Given the description of an element on the screen output the (x, y) to click on. 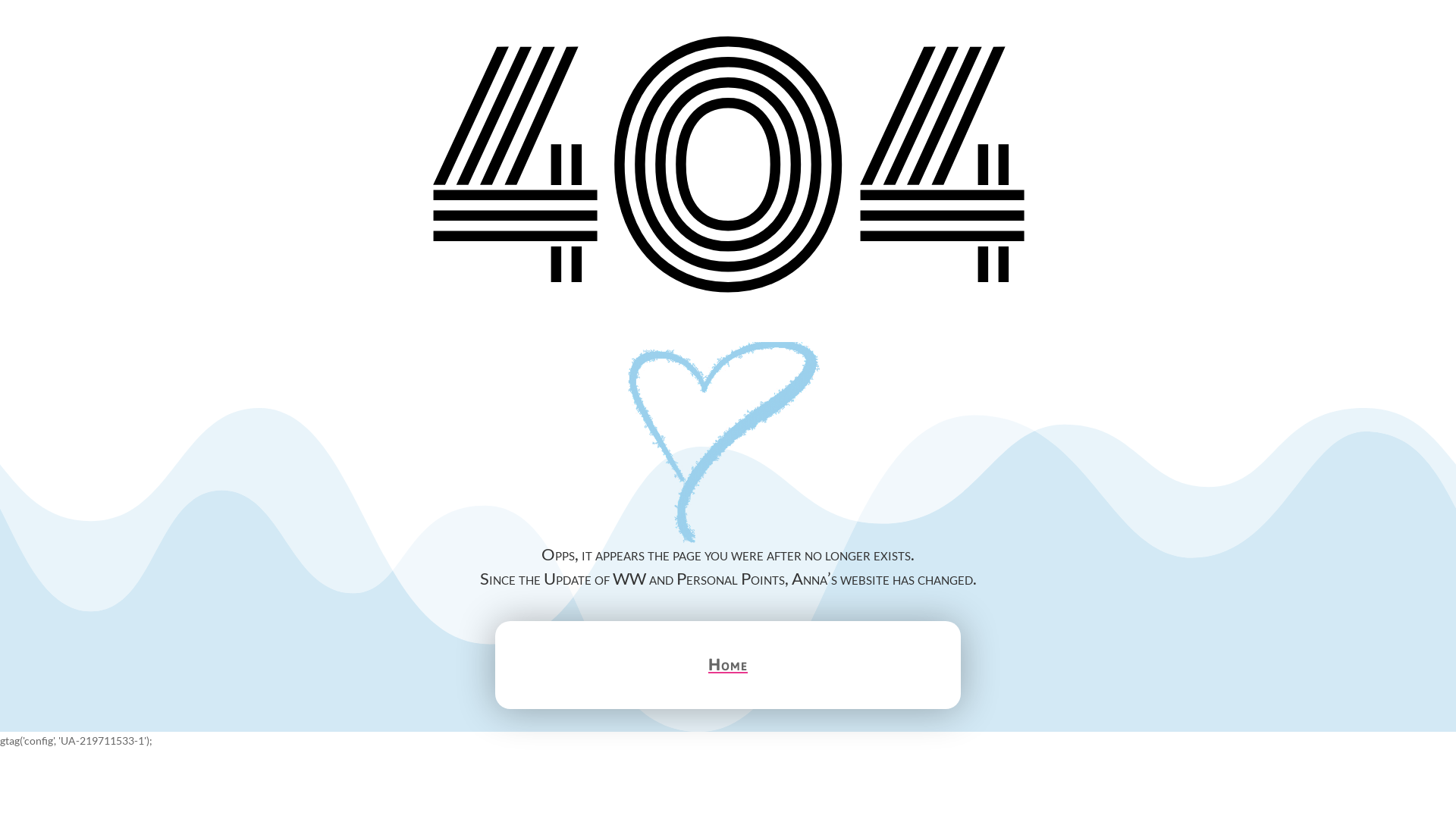
cropped-heart-icon.png Element type: hover (728, 444)
